Given the description of an element on the screen output the (x, y) to click on. 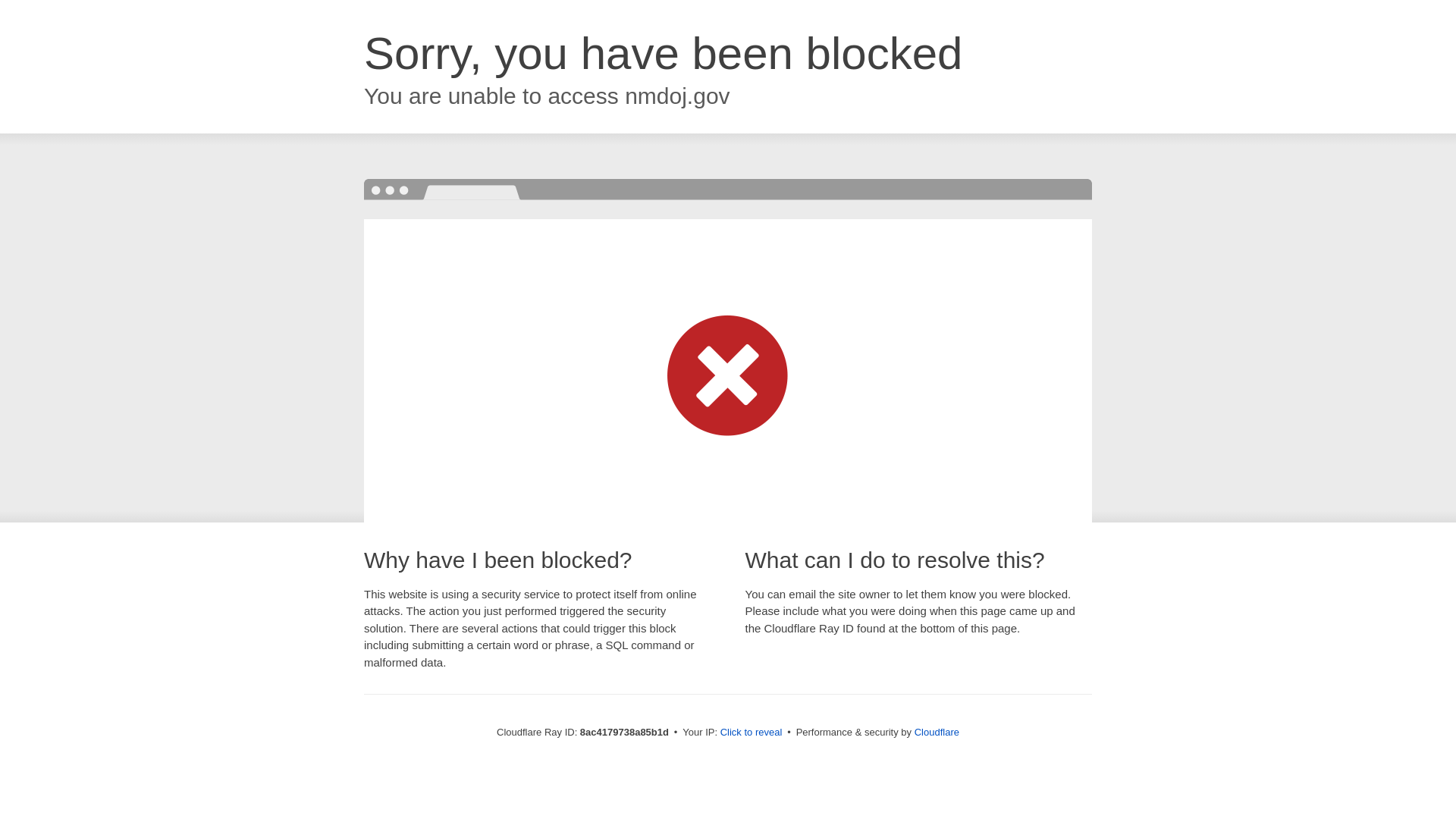
Click to reveal (751, 732)
Cloudflare (936, 731)
